Given the description of an element on the screen output the (x, y) to click on. 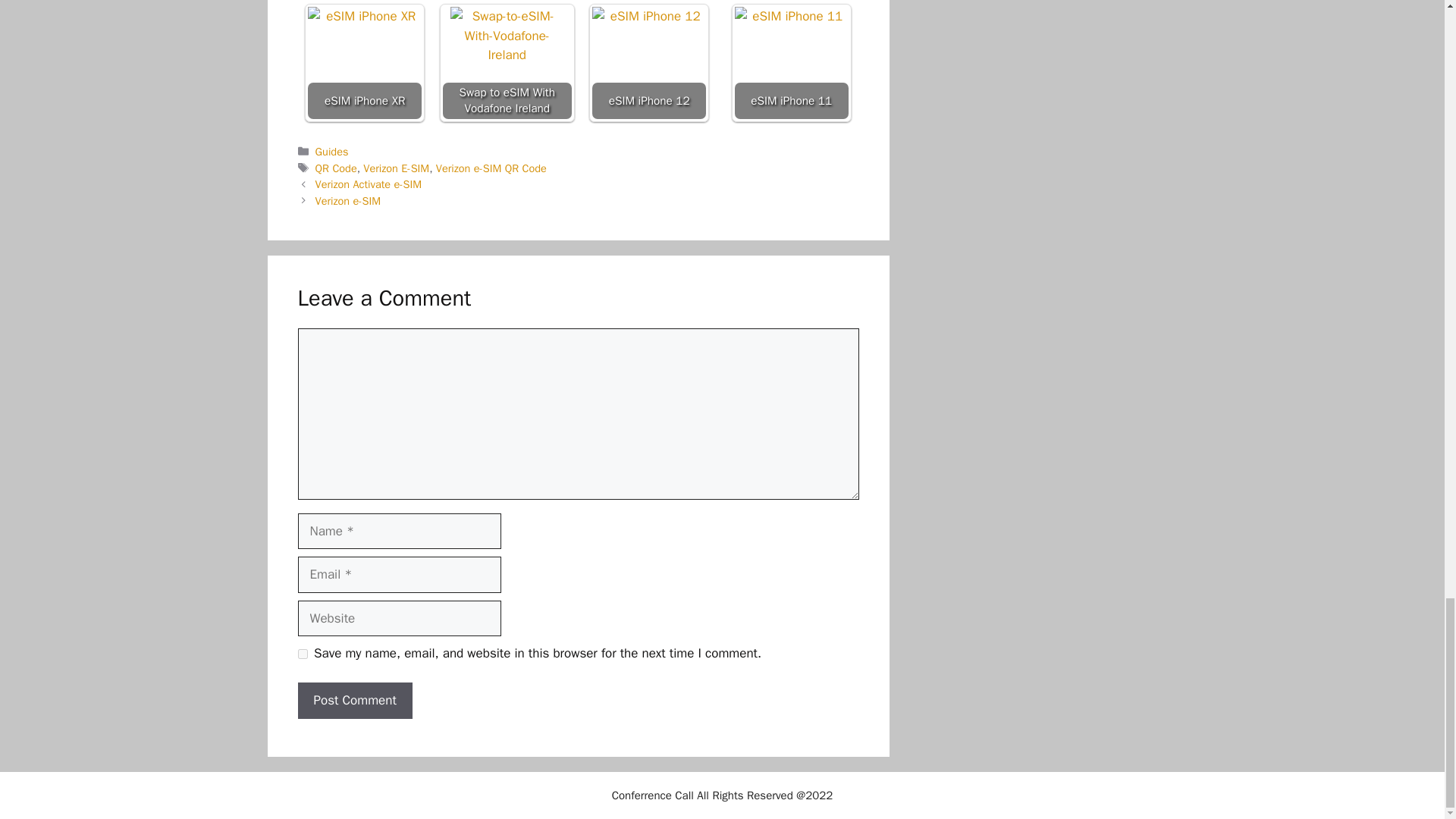
eSIM iPhone XR (364, 62)
Verizon E-SIM (395, 168)
eSIM iPhone 12 (648, 62)
Verizon e-SIM (348, 201)
Post Comment (354, 700)
Swap to eSIM With Vodafone Ireland (507, 62)
eSIM iPhone XR (364, 63)
Verizon e-SIM QR Code (491, 168)
Post Comment (354, 700)
QR Code (335, 168)
